Given the description of an element on the screen output the (x, y) to click on. 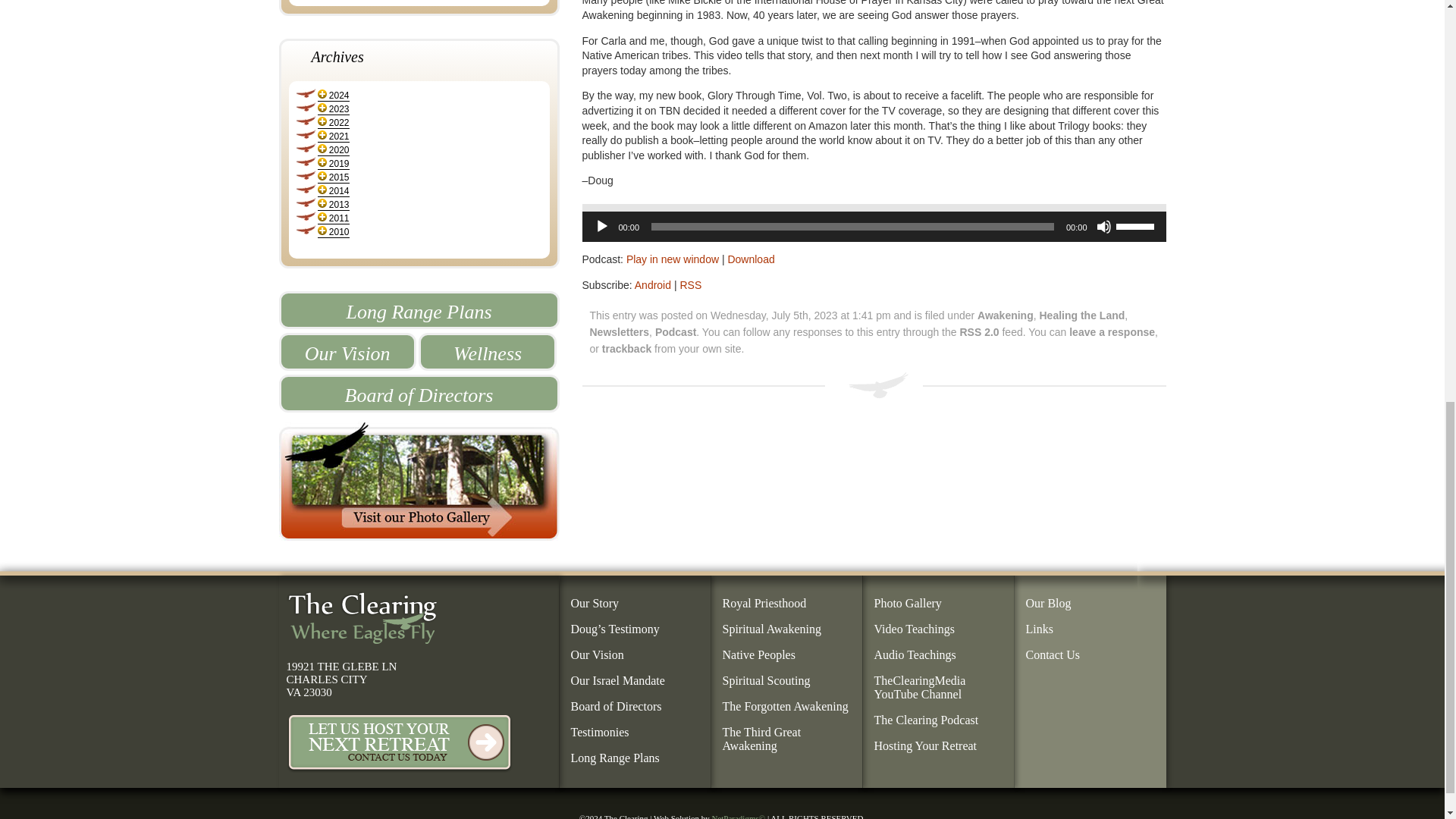
Play in new window (672, 259)
Mute (1104, 226)
Subscribe on Android (652, 285)
Play (602, 226)
Download (750, 259)
Subscribe via RSS (690, 285)
Visit our Photo Gallery (419, 480)
